Given the description of an element on the screen output the (x, y) to click on. 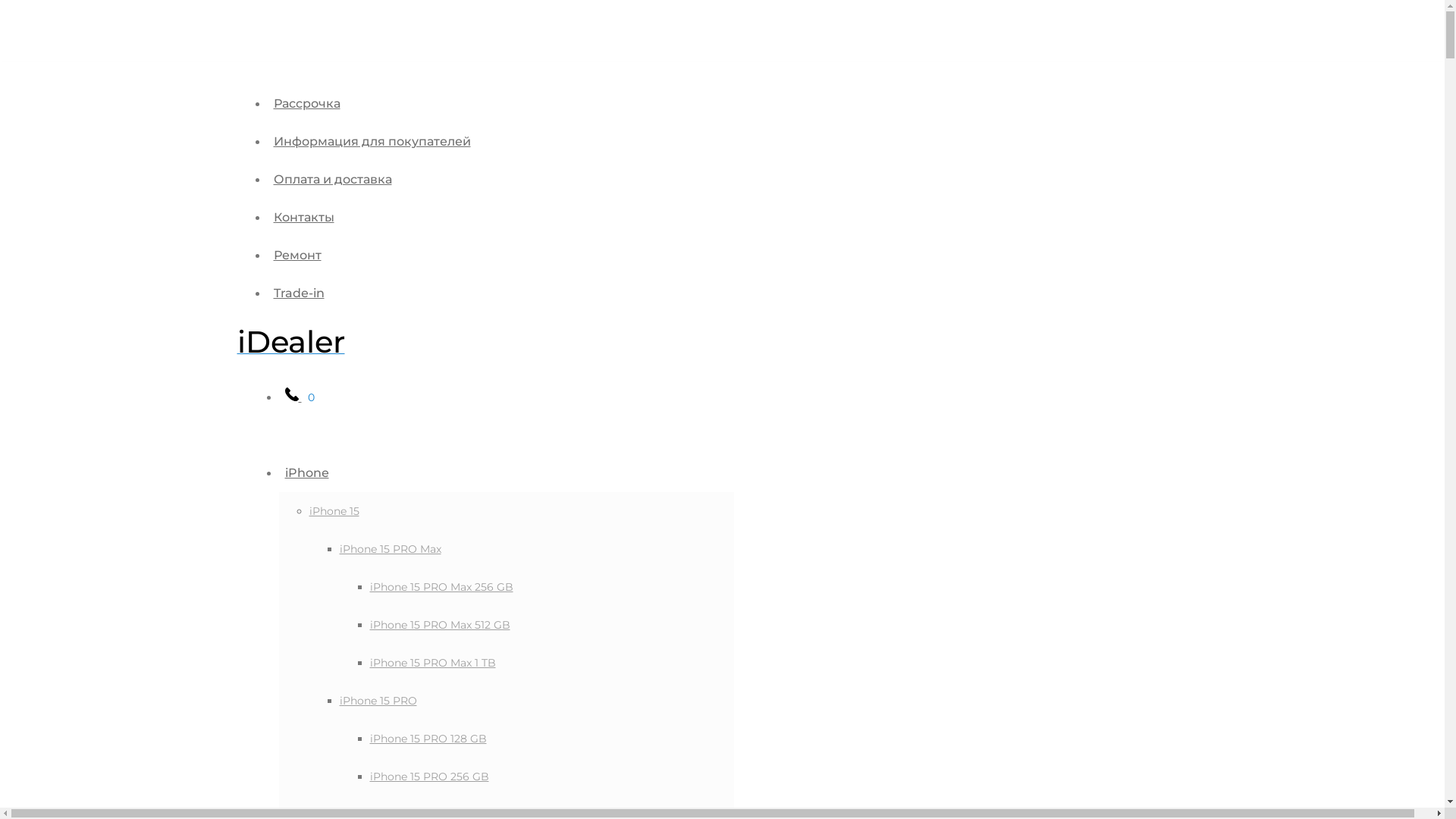
iDealer Element type: text (290, 348)
iPhone 15 PRO 256 GB Element type: text (429, 776)
Trade-in Element type: text (297, 292)
iPhone 15 PRO Max 1 TB Element type: text (432, 662)
iPhone 15 Element type: text (334, 510)
iPhone 15 PRO Max Element type: text (390, 548)
iPhone 15 PRO Element type: text (378, 700)
iPhone 15 PRO 128 GB Element type: text (428, 738)
iPhone 15 PRO Max 512 GB Element type: text (440, 624)
iPhone 15 PRO Max 256 GB Element type: text (441, 586)
iPhone Element type: text (307, 472)
